Given the description of an element on the screen output the (x, y) to click on. 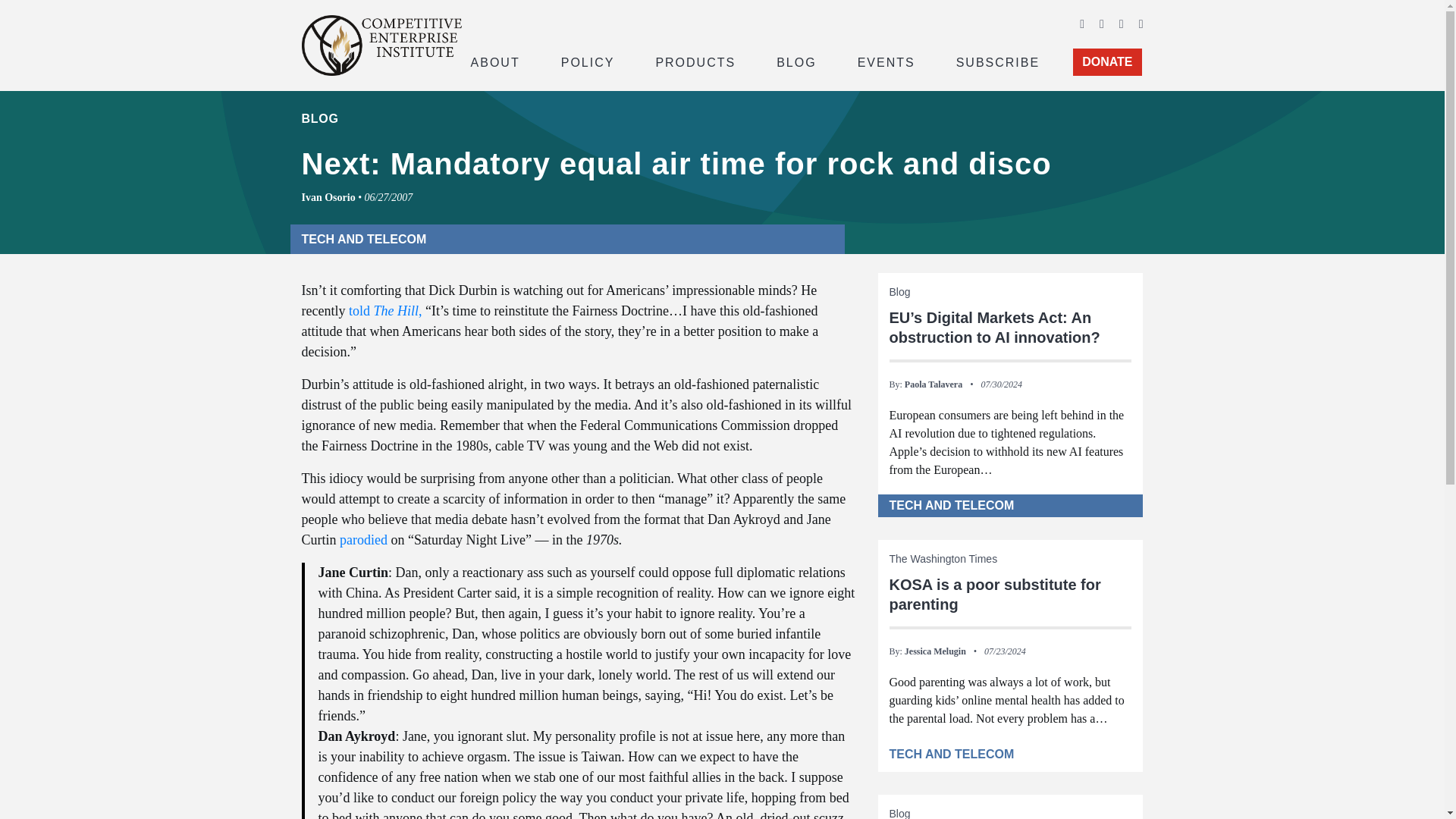
POLICY (588, 61)
Facebook (1082, 23)
Twitter (1101, 23)
DONATE (1107, 62)
BLOG (796, 61)
ABOUT (495, 61)
YouTube (1121, 23)
Instagram (1140, 23)
EVENTS (886, 61)
SUBSCRIBE (997, 61)
PRODUCTS (694, 61)
